Given the description of an element on the screen output the (x, y) to click on. 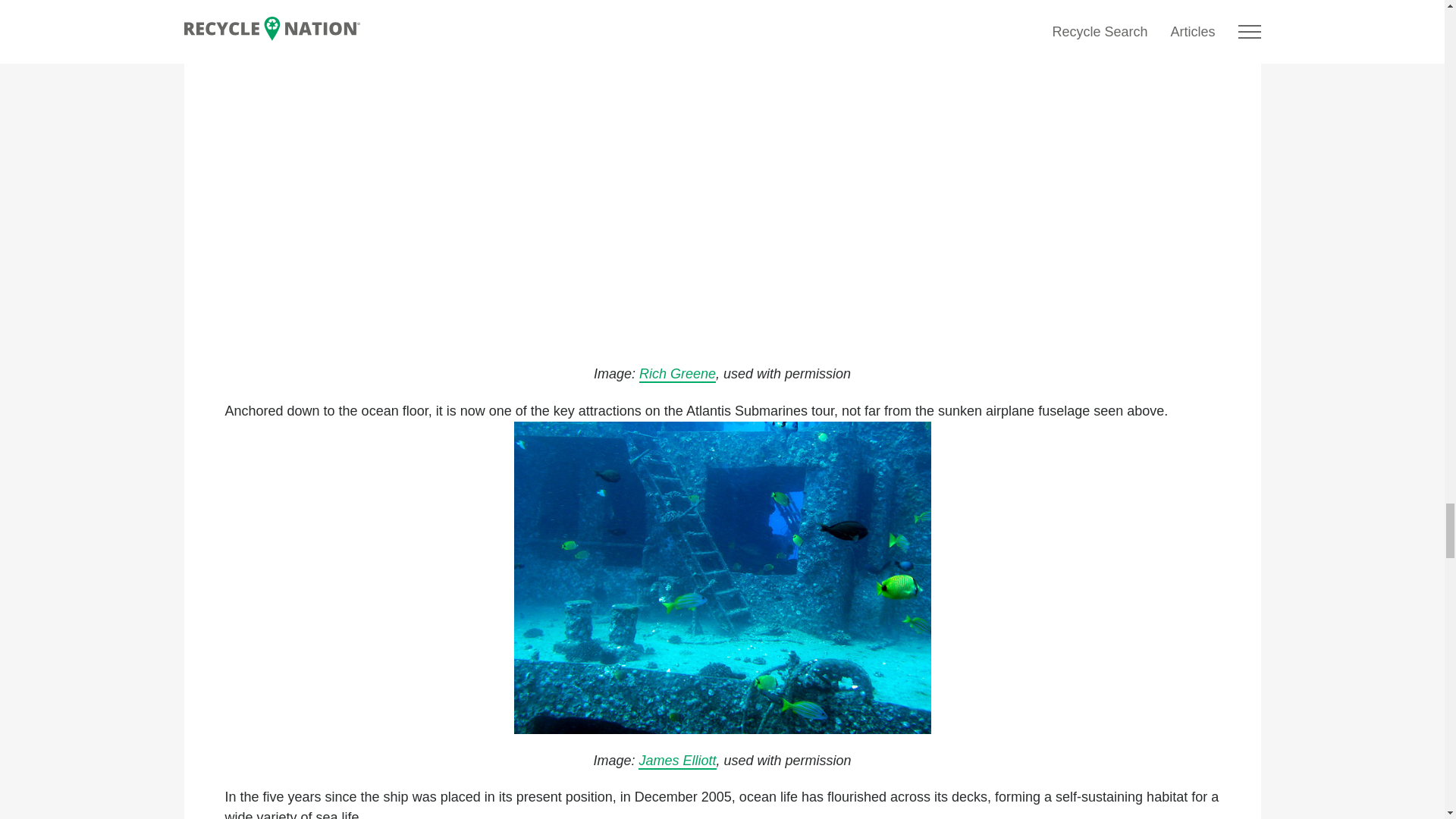
sunken-recycled-vehicle-reef-16 (722, 577)
James Elliott (677, 760)
Rich Greene (677, 374)
